Given the description of an element on the screen output the (x, y) to click on. 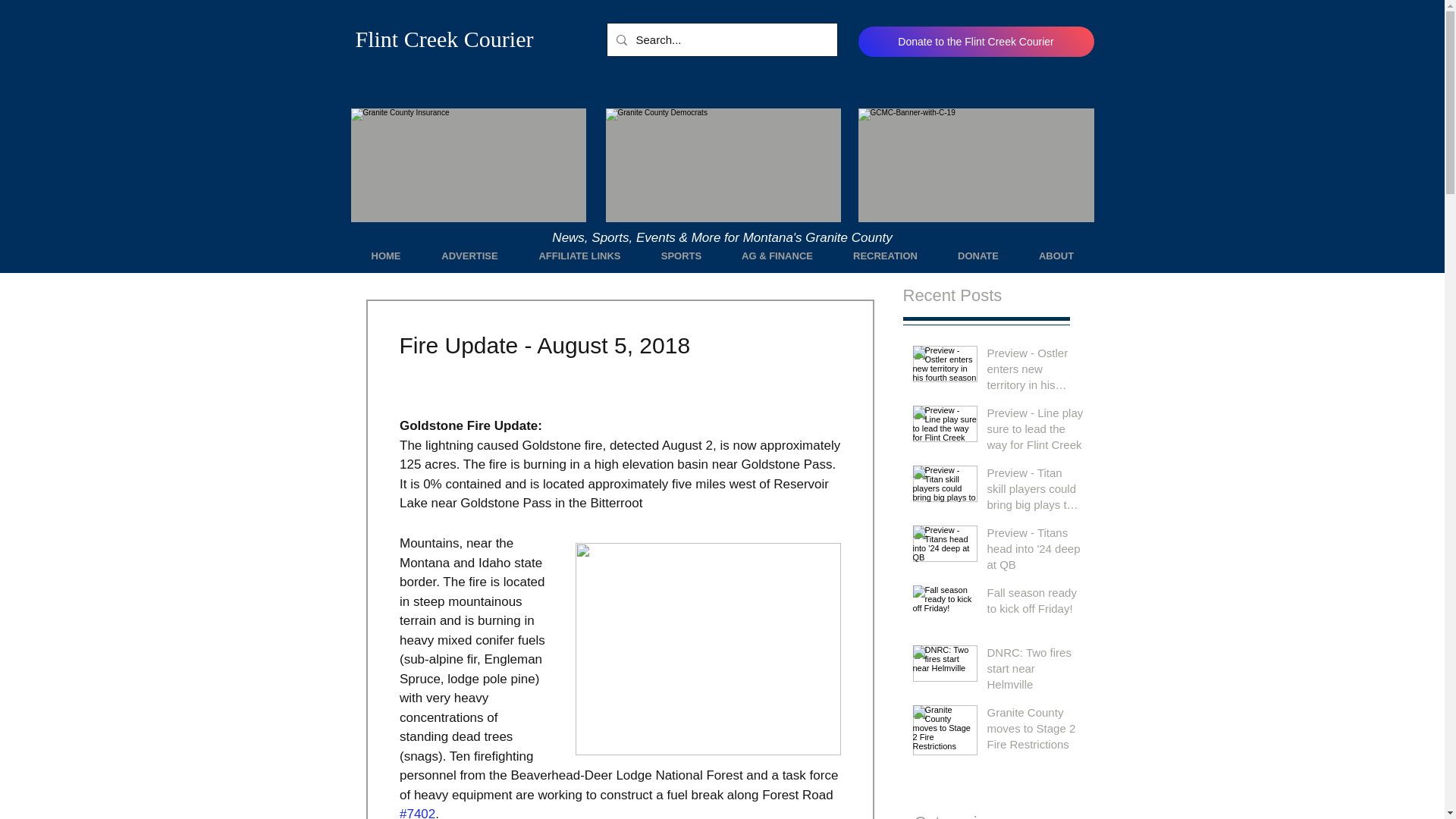
Donate to the Flint Creek Courier (976, 41)
ADVERTISE (470, 255)
HOME (385, 255)
SPORTS (682, 255)
ABOUT (1056, 255)
DONATE (977, 255)
